Given the description of an element on the screen output the (x, y) to click on. 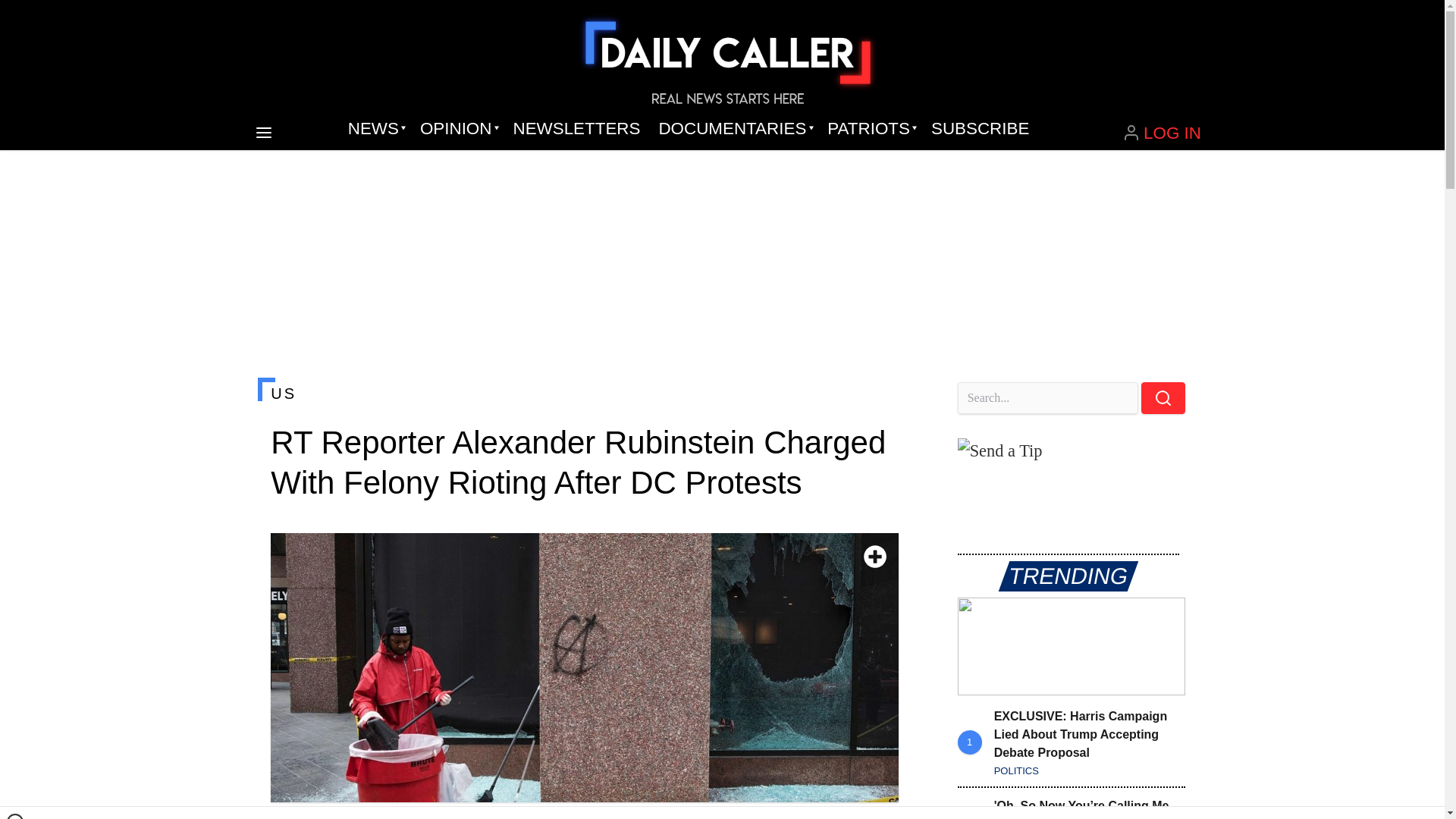
DOCUMENTARIES (733, 128)
SUBSCRIBE (979, 128)
US (584, 393)
NEWS (374, 128)
NEWSLETTERS (576, 128)
OPINION (456, 128)
Close window (14, 816)
Toggle fullscreen (874, 556)
